Given the description of an element on the screen output the (x, y) to click on. 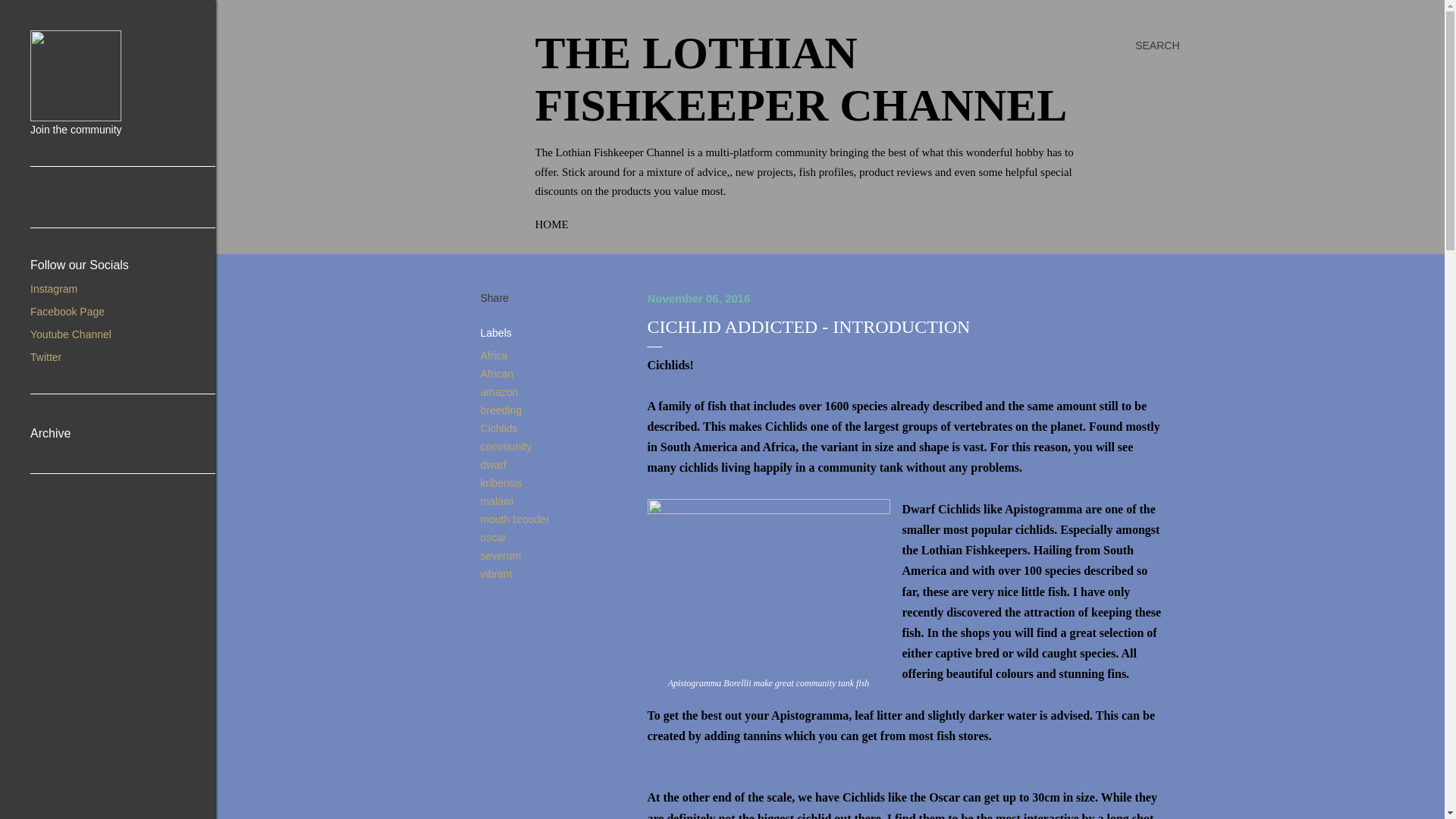
amazon (499, 390)
November 06, 2016 (699, 297)
vibrant (496, 573)
oscar (493, 536)
Africa (494, 354)
dwarf (493, 463)
malawi (496, 500)
severum (500, 554)
mouth brooder (515, 518)
African (496, 372)
permanent link (699, 297)
HOME (552, 224)
breeding (501, 409)
SEARCH (1157, 45)
Cichlids (499, 427)
